Given the description of an element on the screen output the (x, y) to click on. 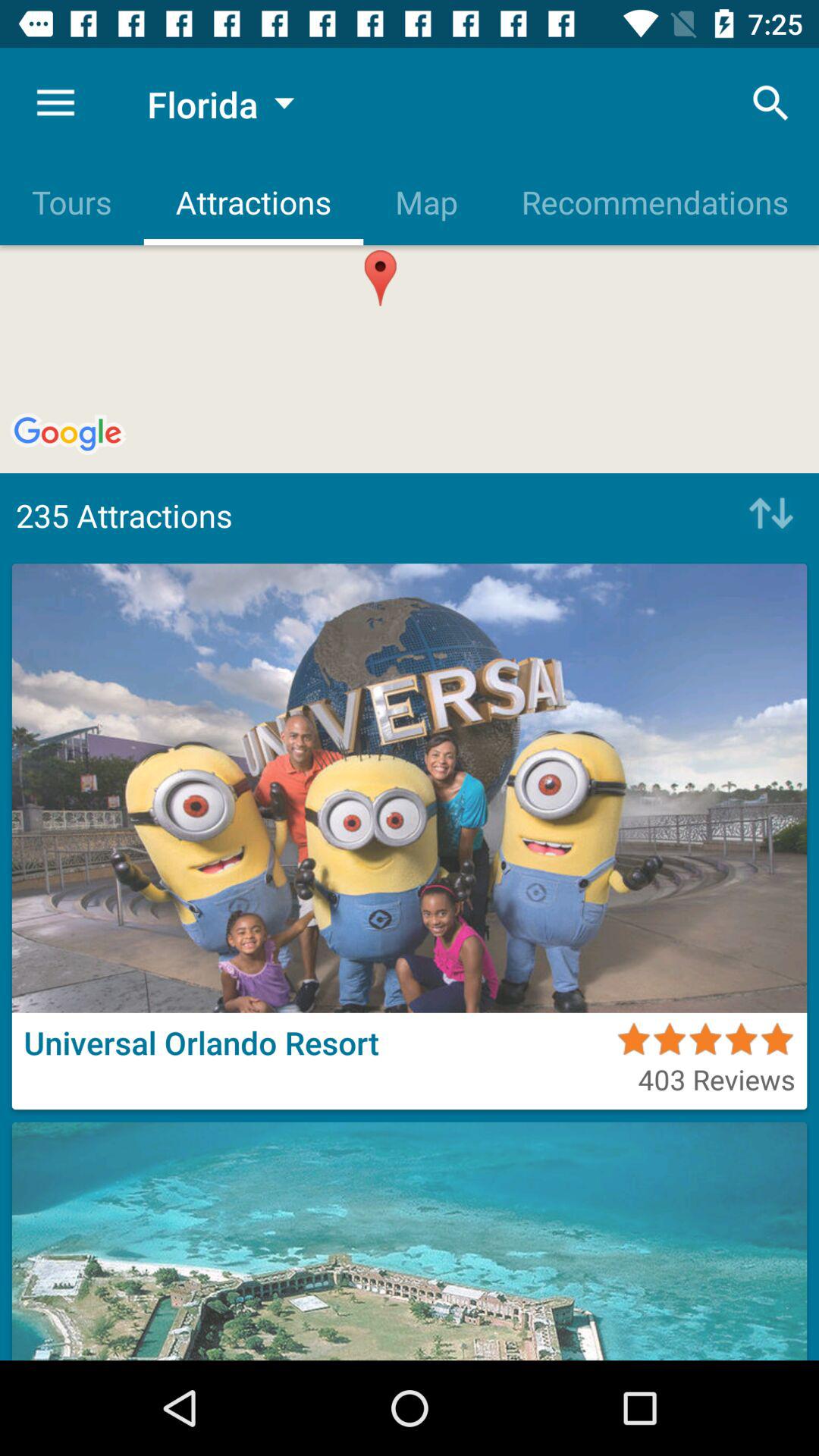
press the app next to map item (771, 103)
